Given the description of an element on the screen output the (x, y) to click on. 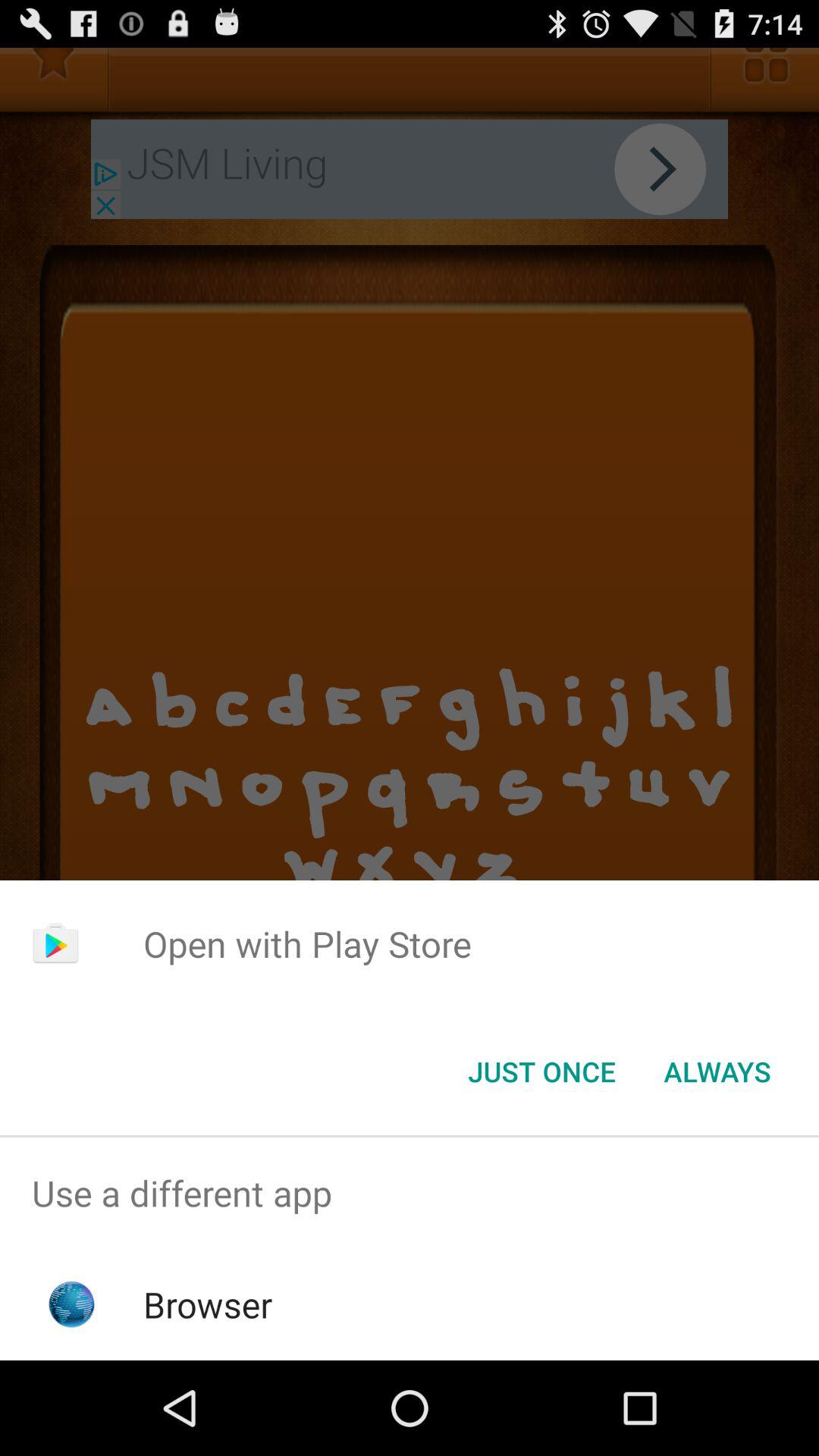
open the use a different item (409, 1192)
